Given the description of an element on the screen output the (x, y) to click on. 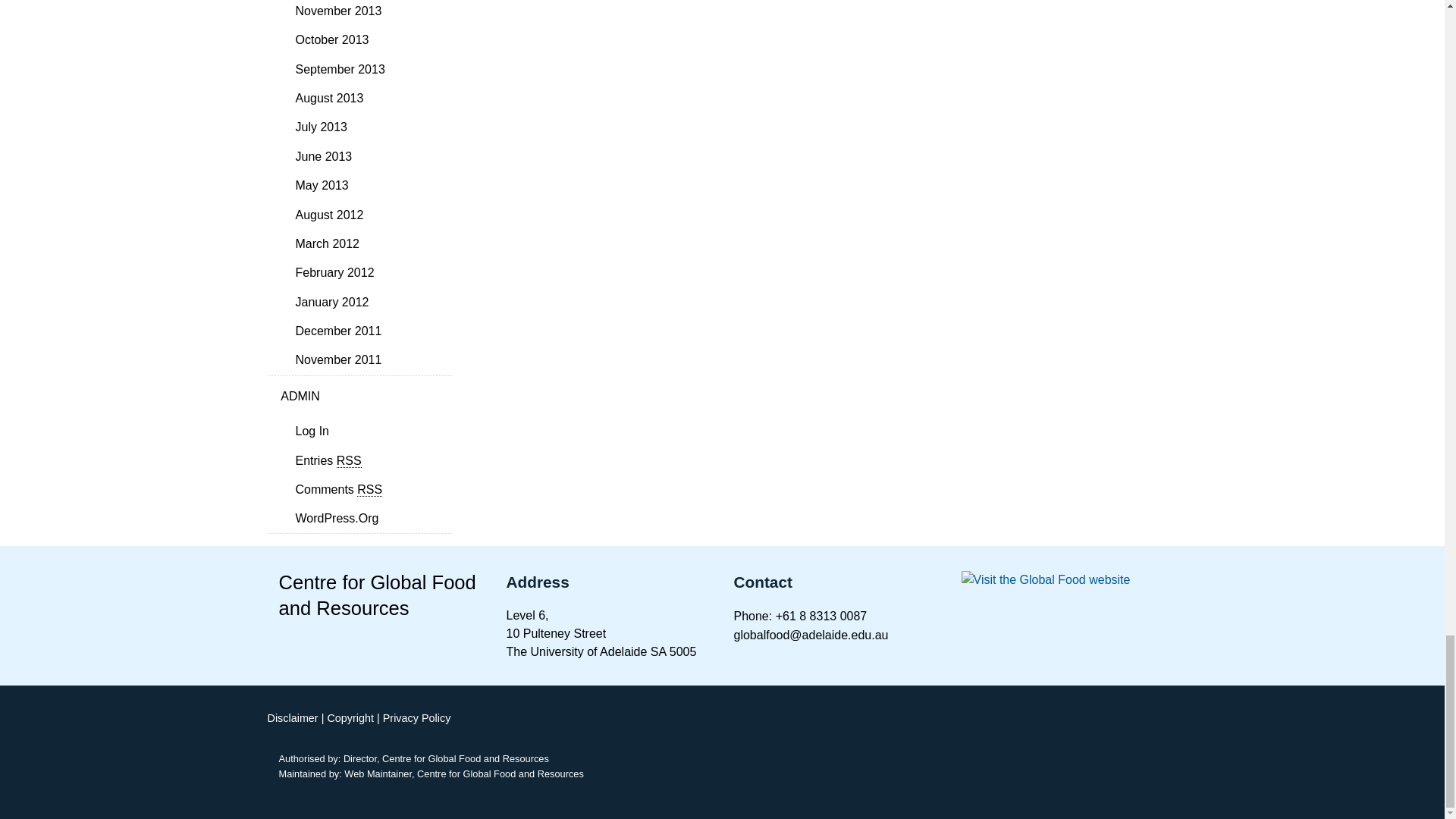
Privacy Statement (416, 717)
Copyright Information (350, 717)
Really Simple Syndication (368, 489)
Really Simple Syndication (348, 460)
Website Disclaimer (291, 717)
